Given the description of an element on the screen output the (x, y) to click on. 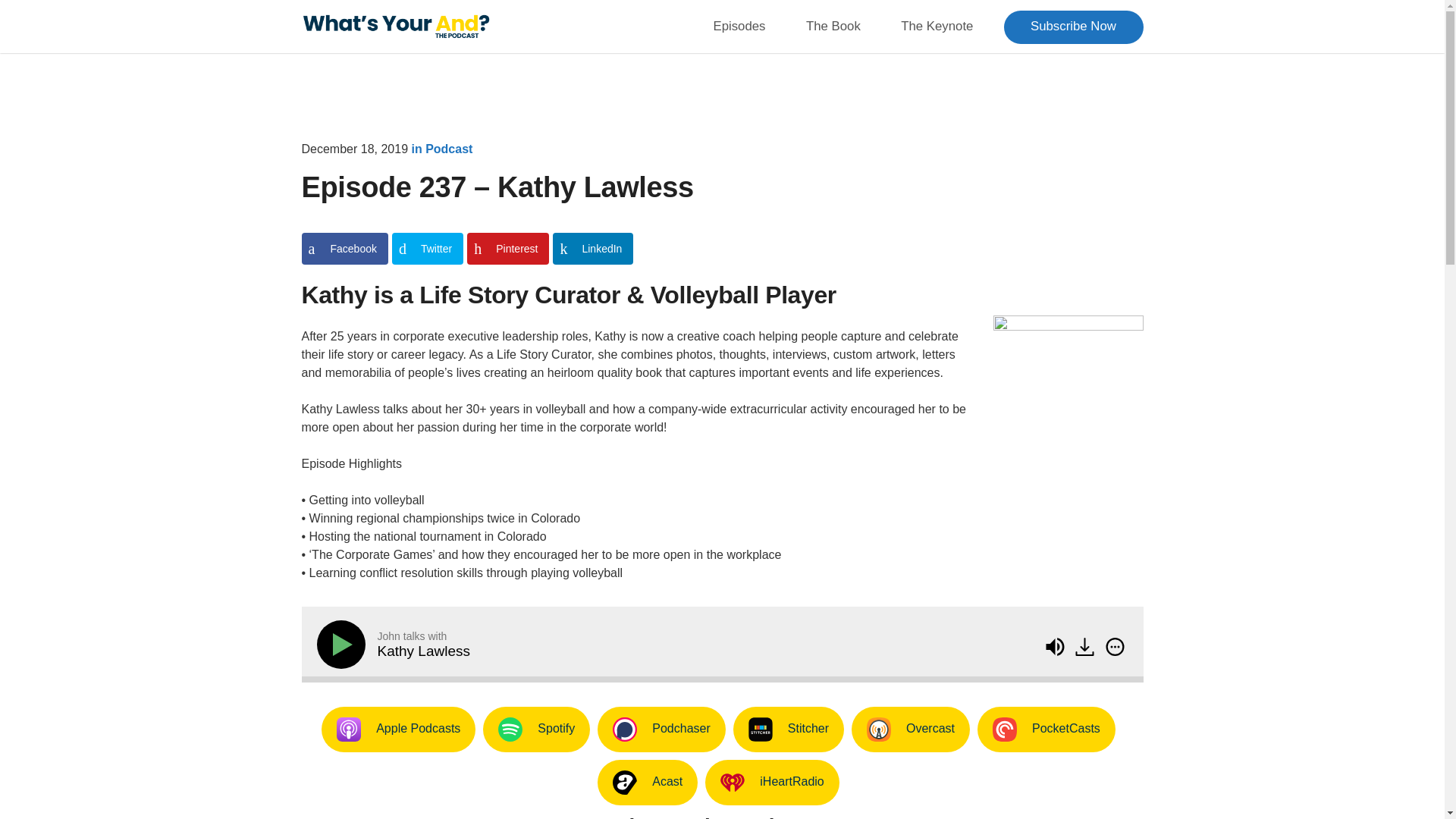
More (1113, 647)
Download (1085, 647)
Share on Pinterest (507, 248)
The Keynote (936, 26)
Stitcher (788, 729)
Facebook (344, 248)
Download (1084, 647)
Apple Podcasts (398, 729)
Share on Twitter (427, 248)
Podchaser (660, 729)
The Book (833, 26)
Podcast (448, 148)
Overcast (910, 729)
iHeartRadio (771, 782)
LinkedIn (593, 248)
